Given the description of an element on the screen output the (x, y) to click on. 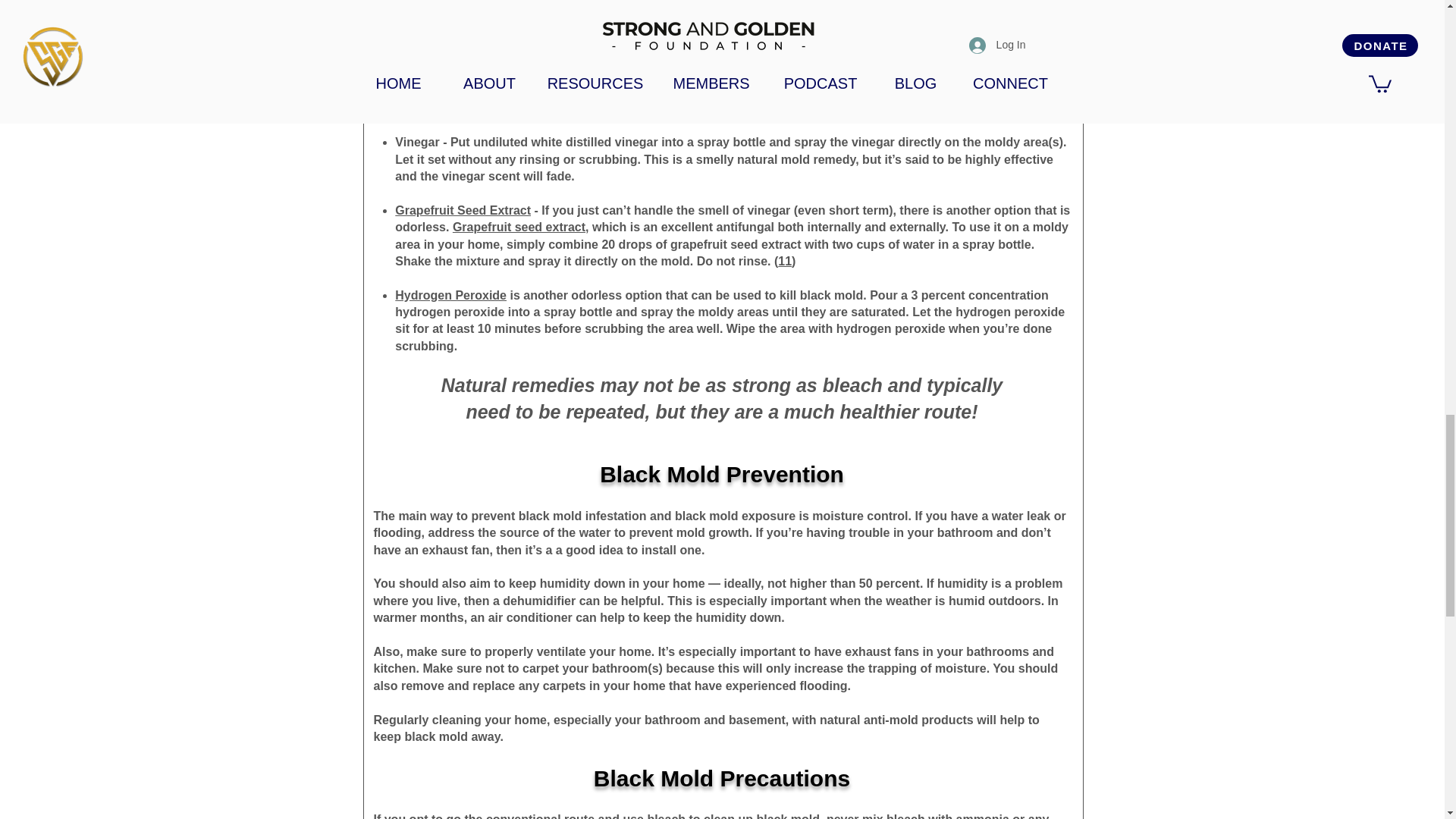
Pine oil (559, 40)
10 (523, 40)
11 (784, 260)
Grapefruit seed extract (518, 226)
Baking soda (430, 74)
Grapefruit Seed Extract (462, 210)
Hydrogen Peroxide (450, 295)
